Given the description of an element on the screen output the (x, y) to click on. 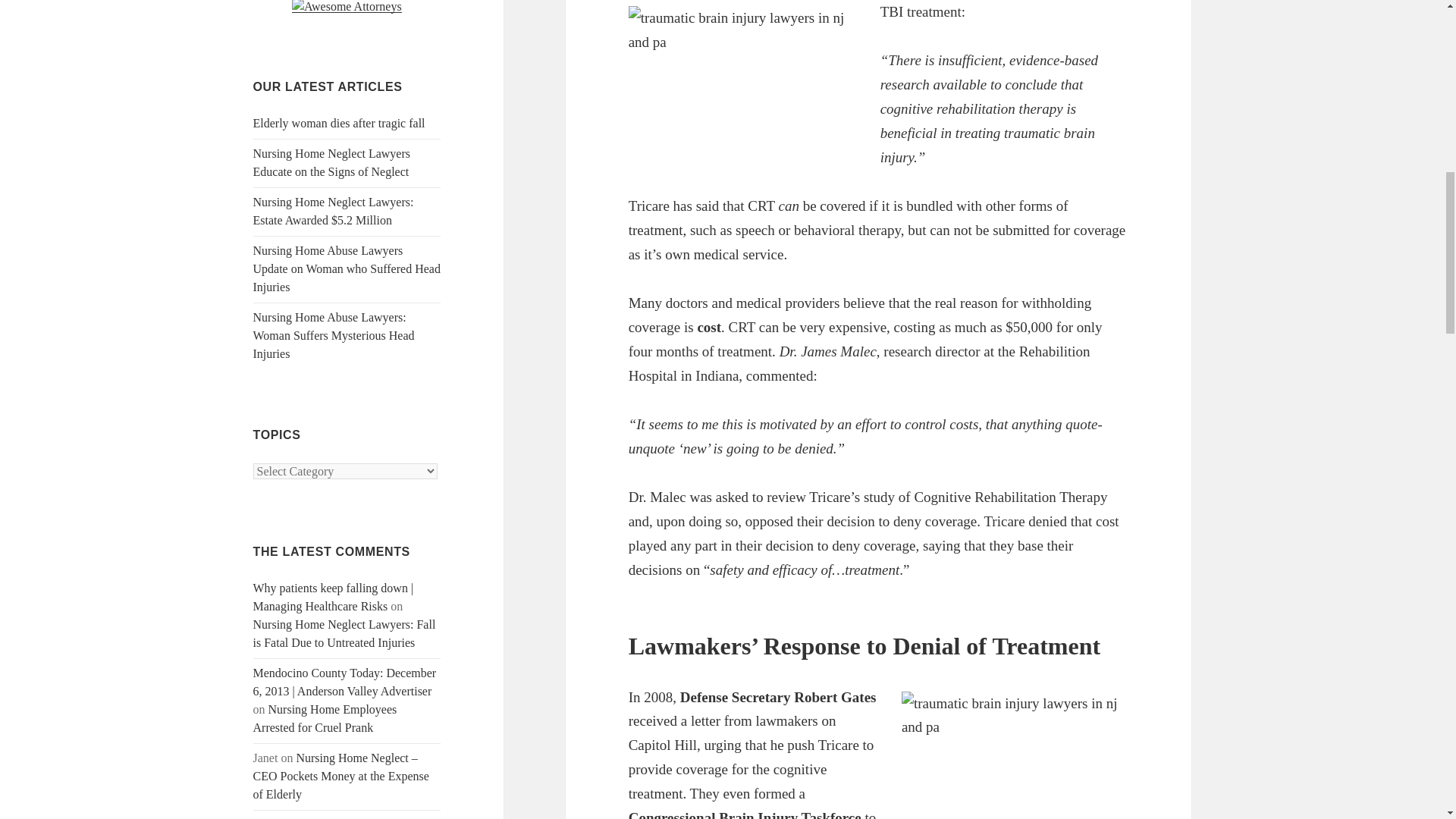
brain-injury-task-force (1015, 755)
traumatic brain injury lawyers push for coverage (742, 86)
